Given the description of an element on the screen output the (x, y) to click on. 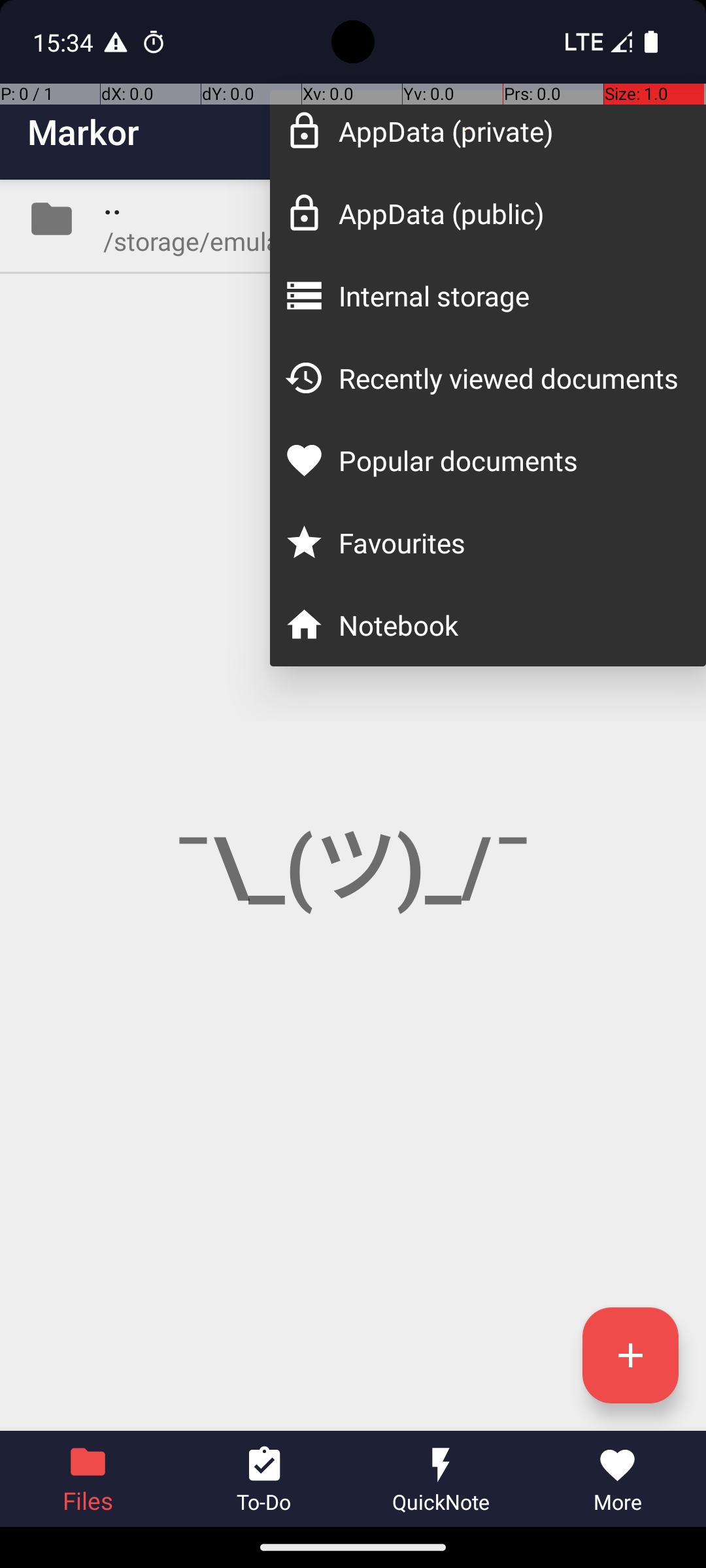
AppData (private) Element type: android.widget.TextView (508, 130)
AppData (public) Element type: android.widget.TextView (508, 212)
Internal storage Element type: android.widget.TextView (508, 295)
Recently viewed documents Element type: android.widget.TextView (508, 377)
Popular documents Element type: android.widget.TextView (508, 459)
Favourites Element type: android.widget.TextView (508, 542)
Notebook Element type: android.widget.TextView (508, 624)
